Given the description of an element on the screen output the (x, y) to click on. 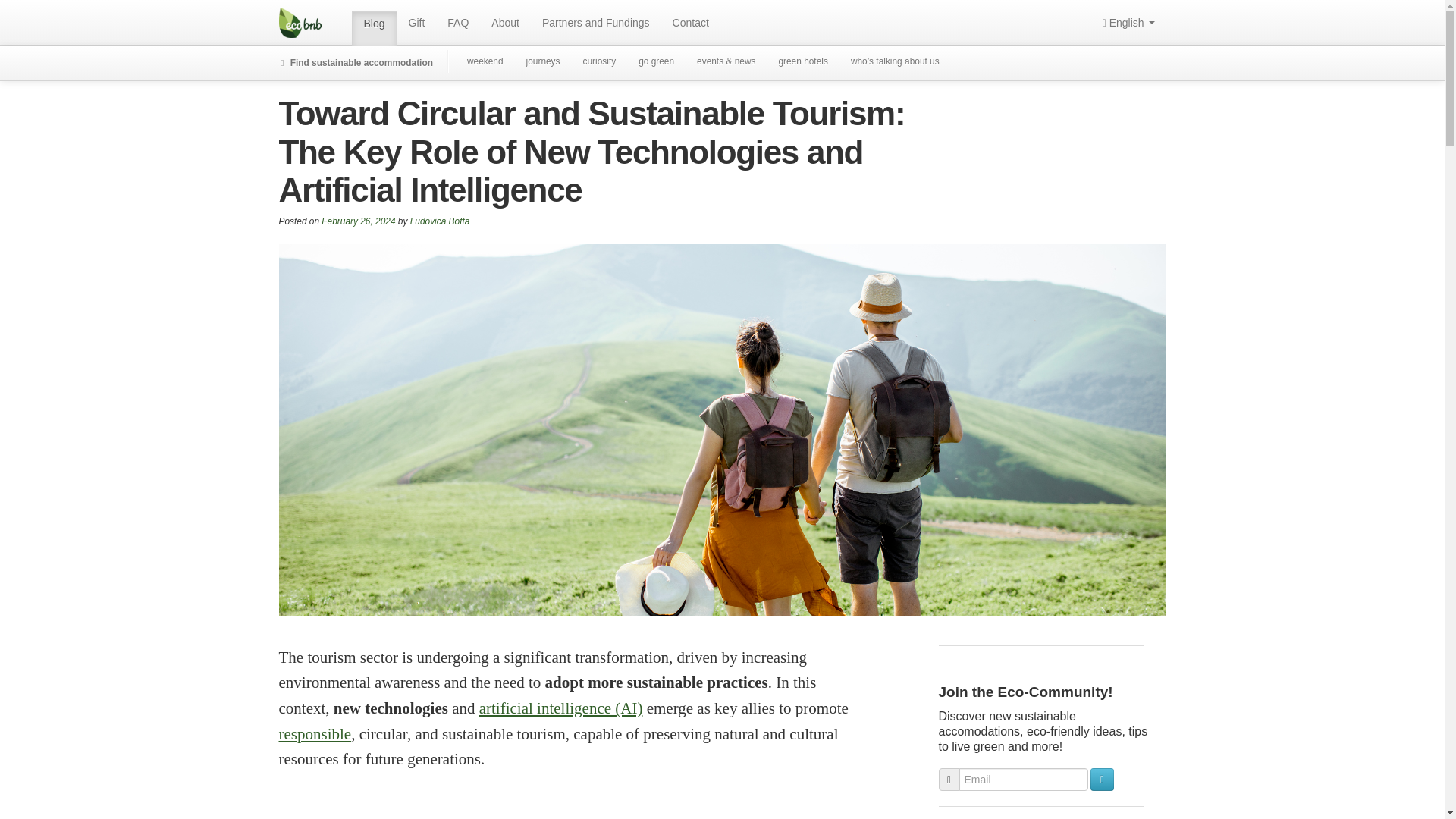
Gift (416, 22)
green hotels (802, 61)
go green (656, 61)
Give a green travel as a gift (416, 22)
English (1128, 22)
Blog (374, 28)
journeys (543, 61)
About (505, 22)
6:07 pm (357, 221)
Ludovica Botta (440, 221)
responsible (315, 733)
Contact (690, 22)
FAQ (457, 22)
Find sustainable accommodation (352, 62)
Partners and Fundings (596, 22)
